Given the description of an element on the screen output the (x, y) to click on. 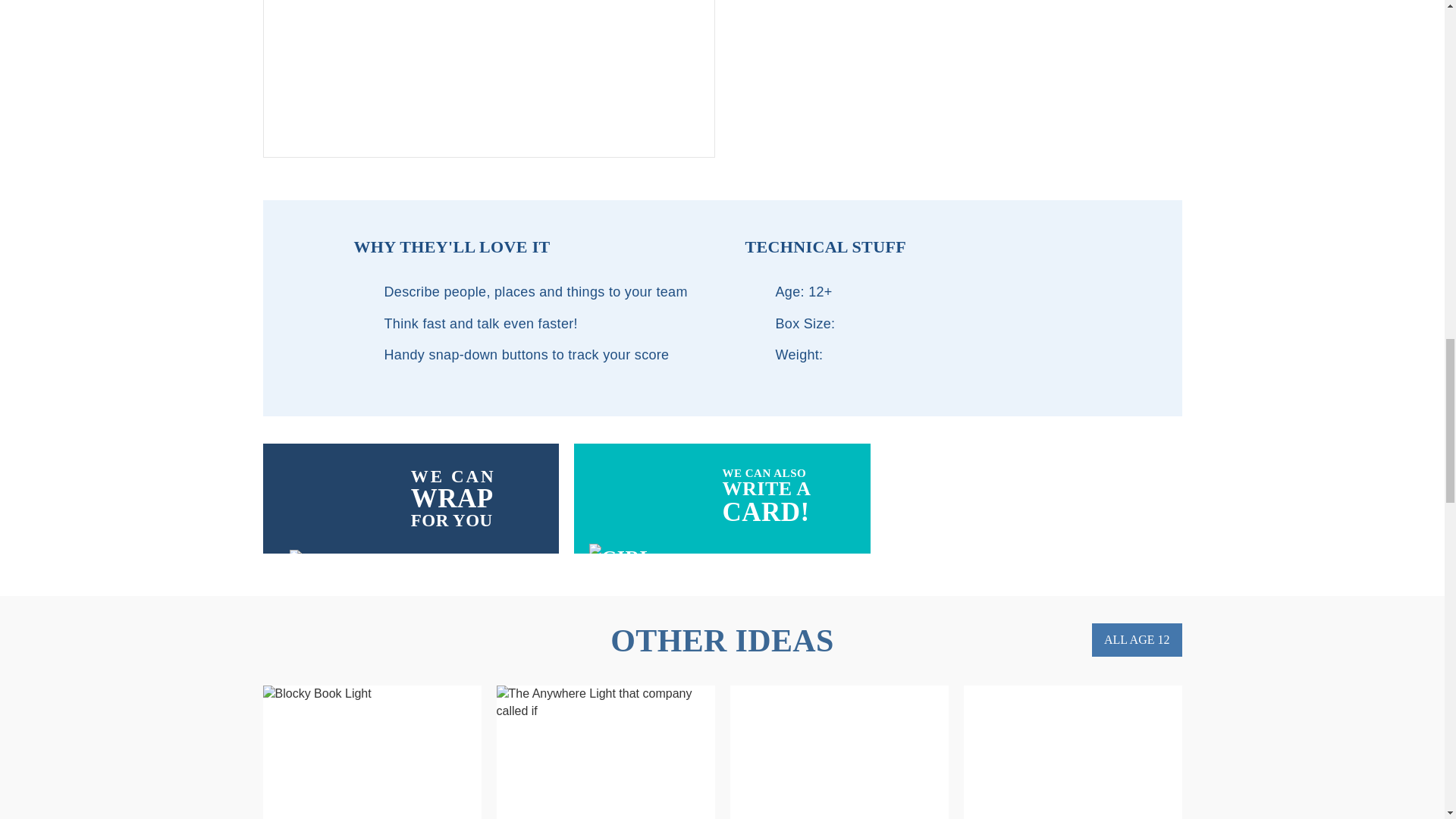
Wicked Uncle's Gift Wrap (488, 79)
